Given the description of an element on the screen output the (x, y) to click on. 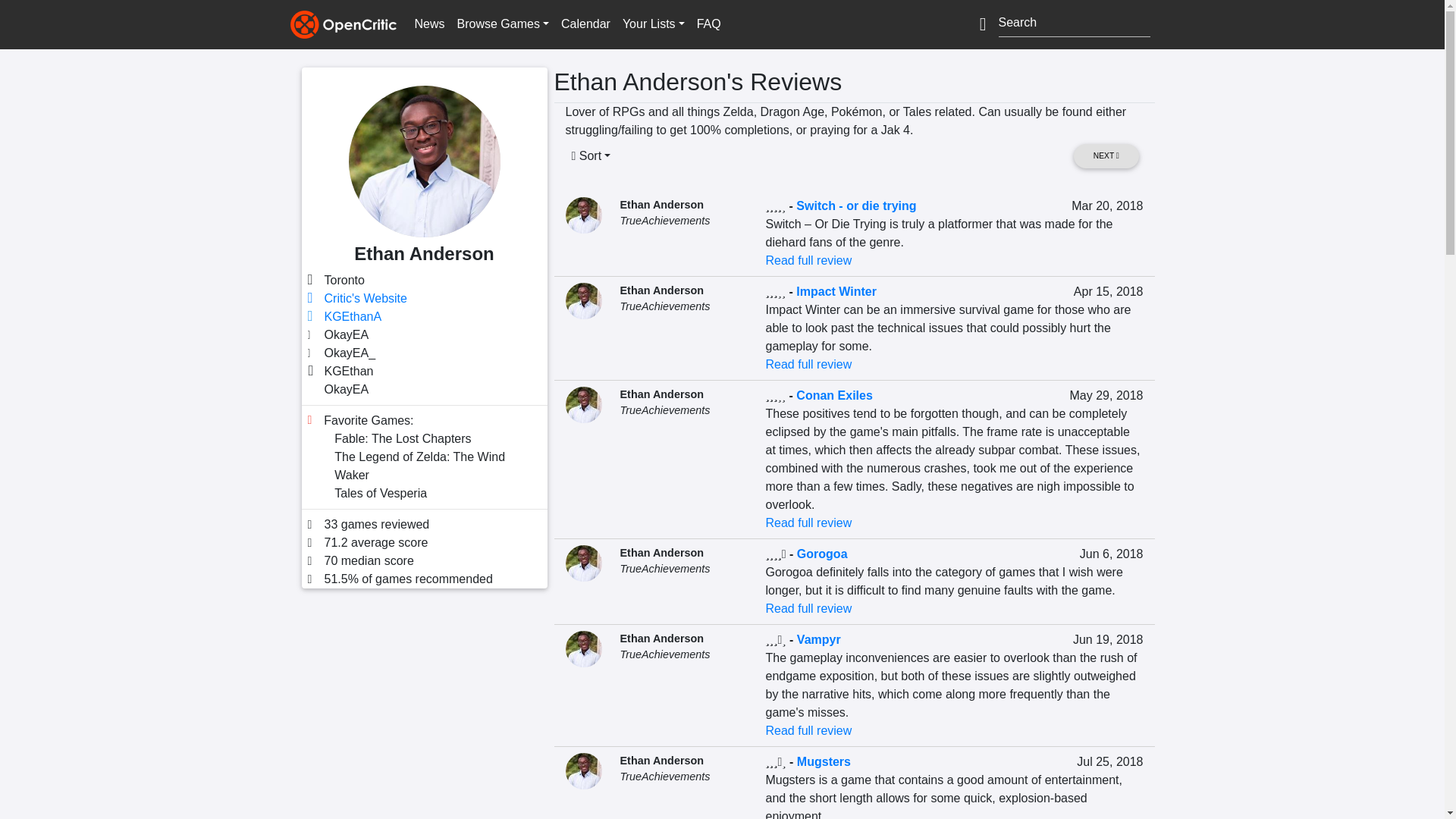
KGEthanA (352, 316)
Switch - or die trying (855, 205)
Ethan Anderson (662, 204)
Impact Winter (836, 291)
TrueAchievements (665, 306)
Your Lists (652, 24)
NEXT (1106, 155)
Ethan Anderson (662, 290)
Browse Games (502, 24)
News (428, 24)
